Given the description of an element on the screen output the (x, y) to click on. 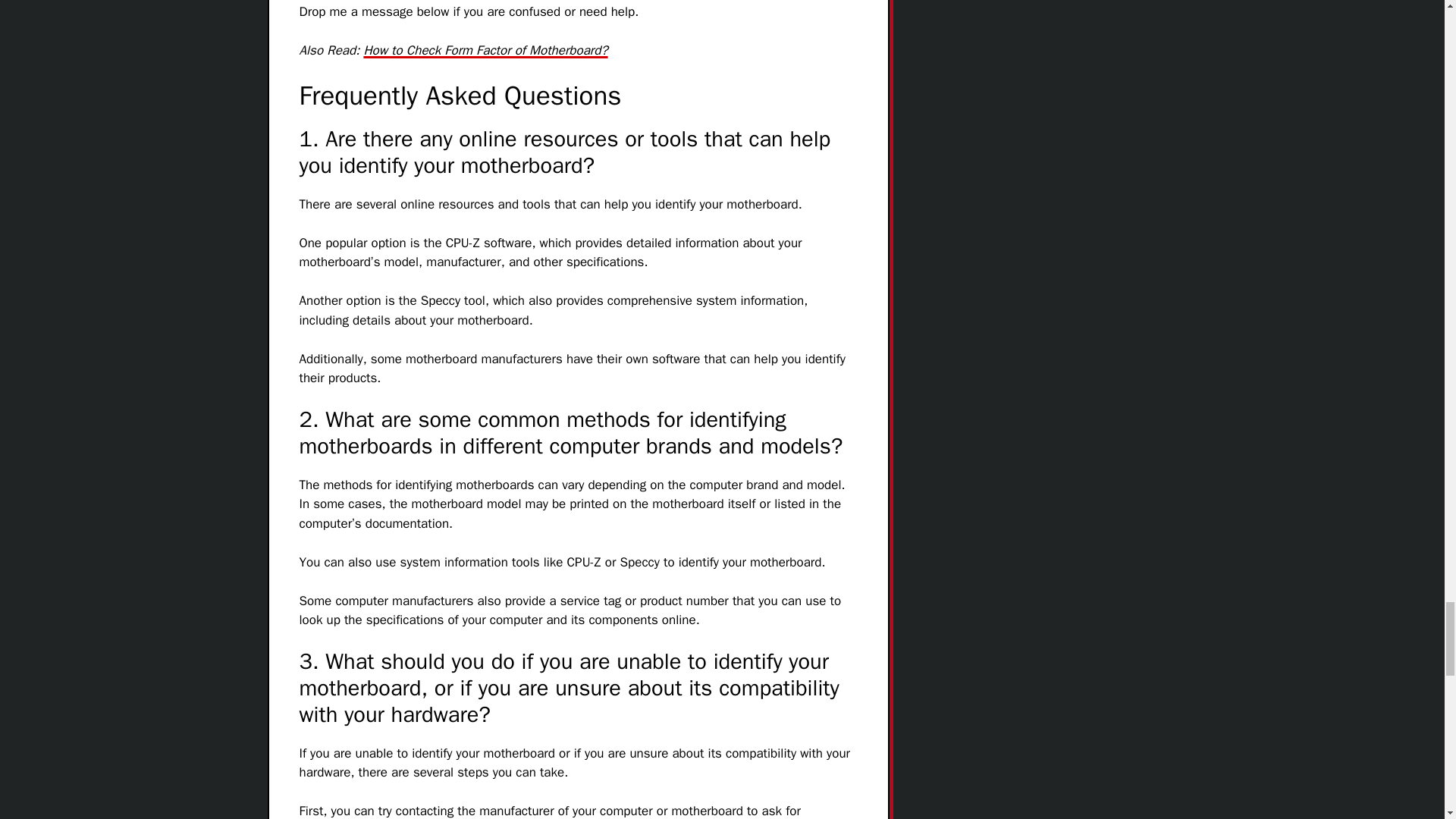
How to Check Form Factor of Motherboard? (484, 50)
